Given the description of an element on the screen output the (x, y) to click on. 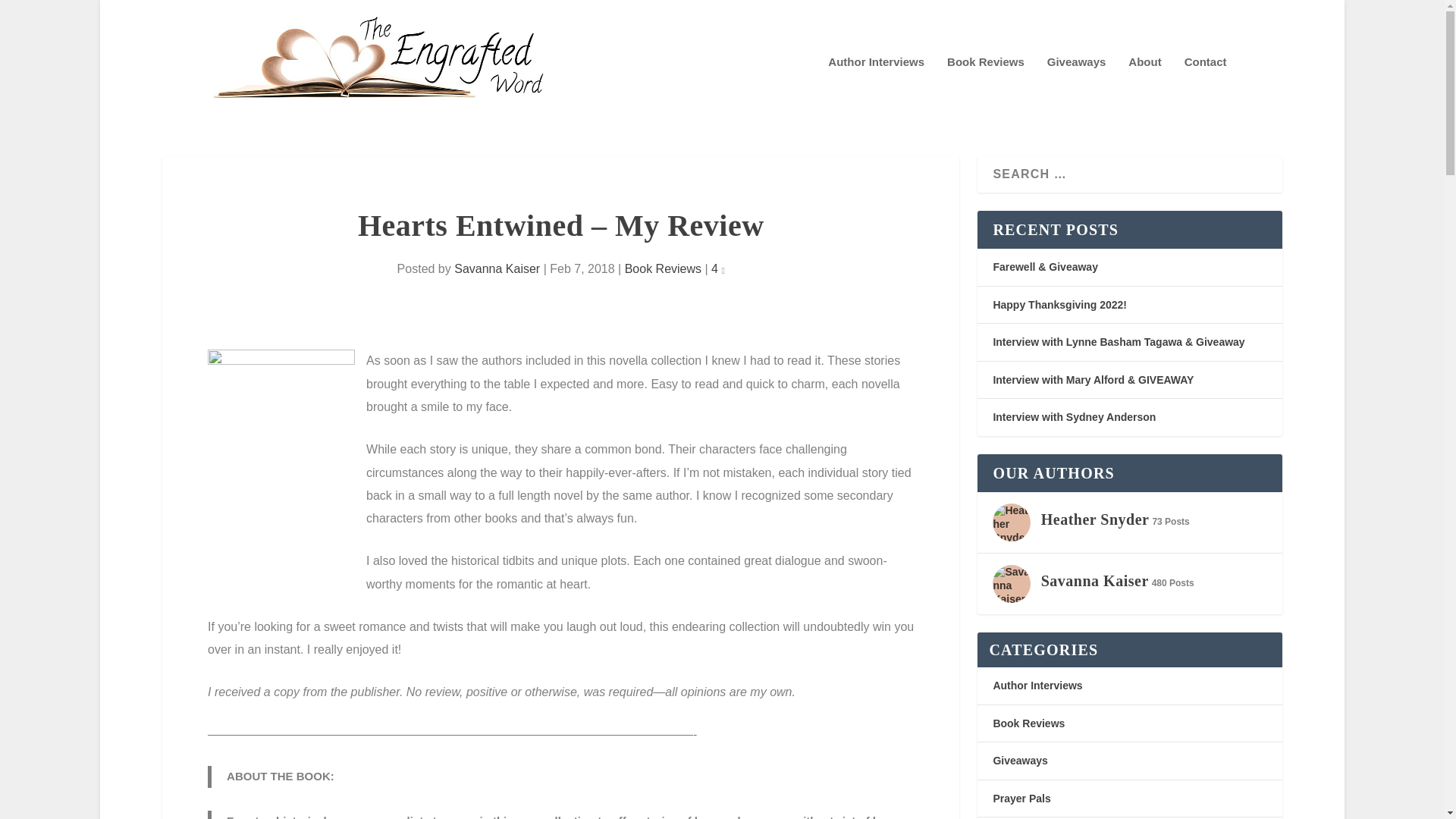
Book Reviews (986, 91)
4 (718, 268)
Author Interviews (876, 91)
Posts by Savanna Kaiser (497, 268)
Savanna Kaiser (497, 268)
Book Reviews (662, 268)
